Given the description of an element on the screen output the (x, y) to click on. 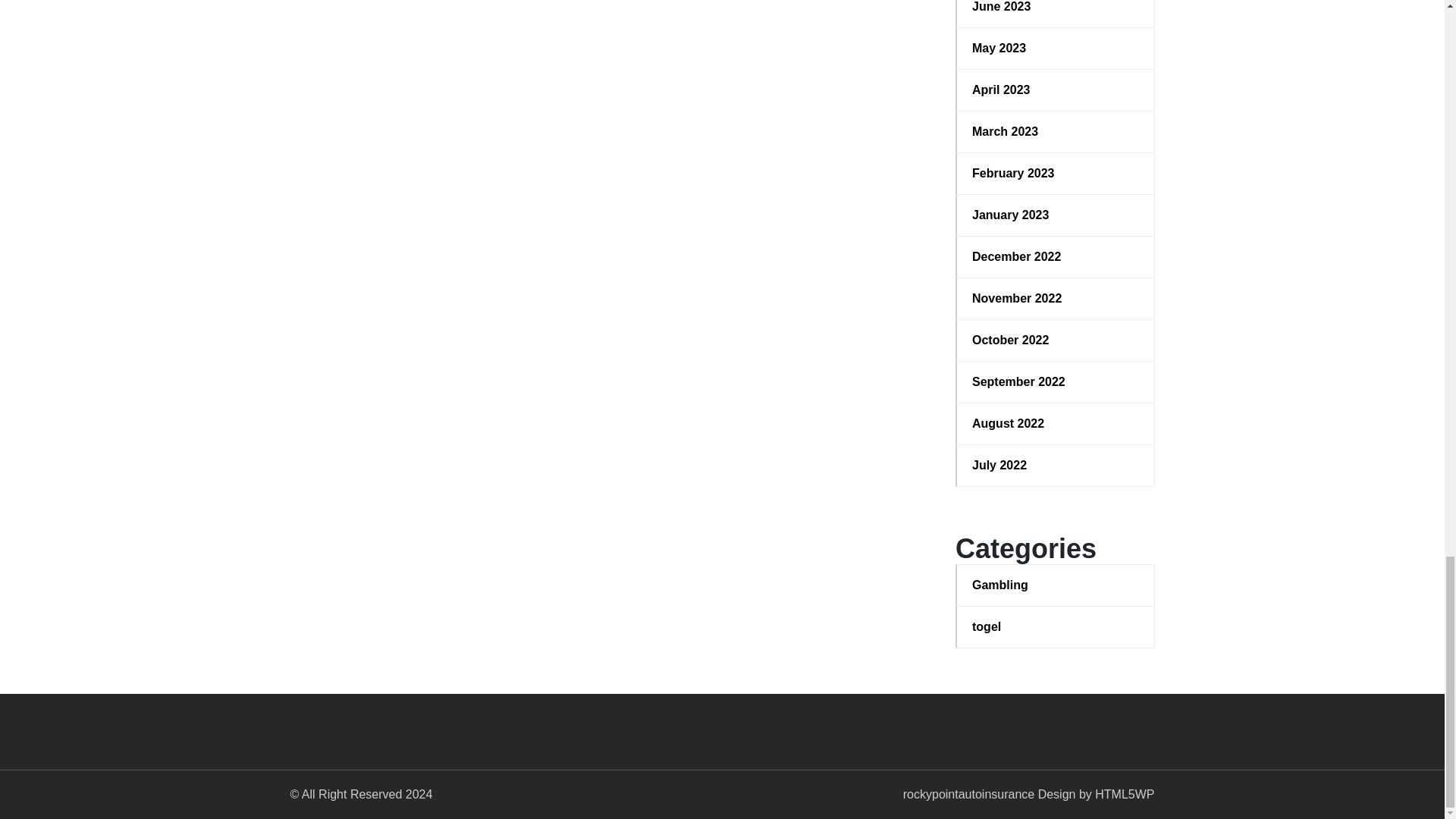
January 2023 (1055, 215)
June 2023 (1055, 7)
April 2023 (1055, 90)
March 2023 (1055, 131)
December 2022 (1055, 257)
May 2023 (1055, 48)
November 2022 (1055, 298)
February 2023 (1055, 173)
